Given the description of an element on the screen output the (x, y) to click on. 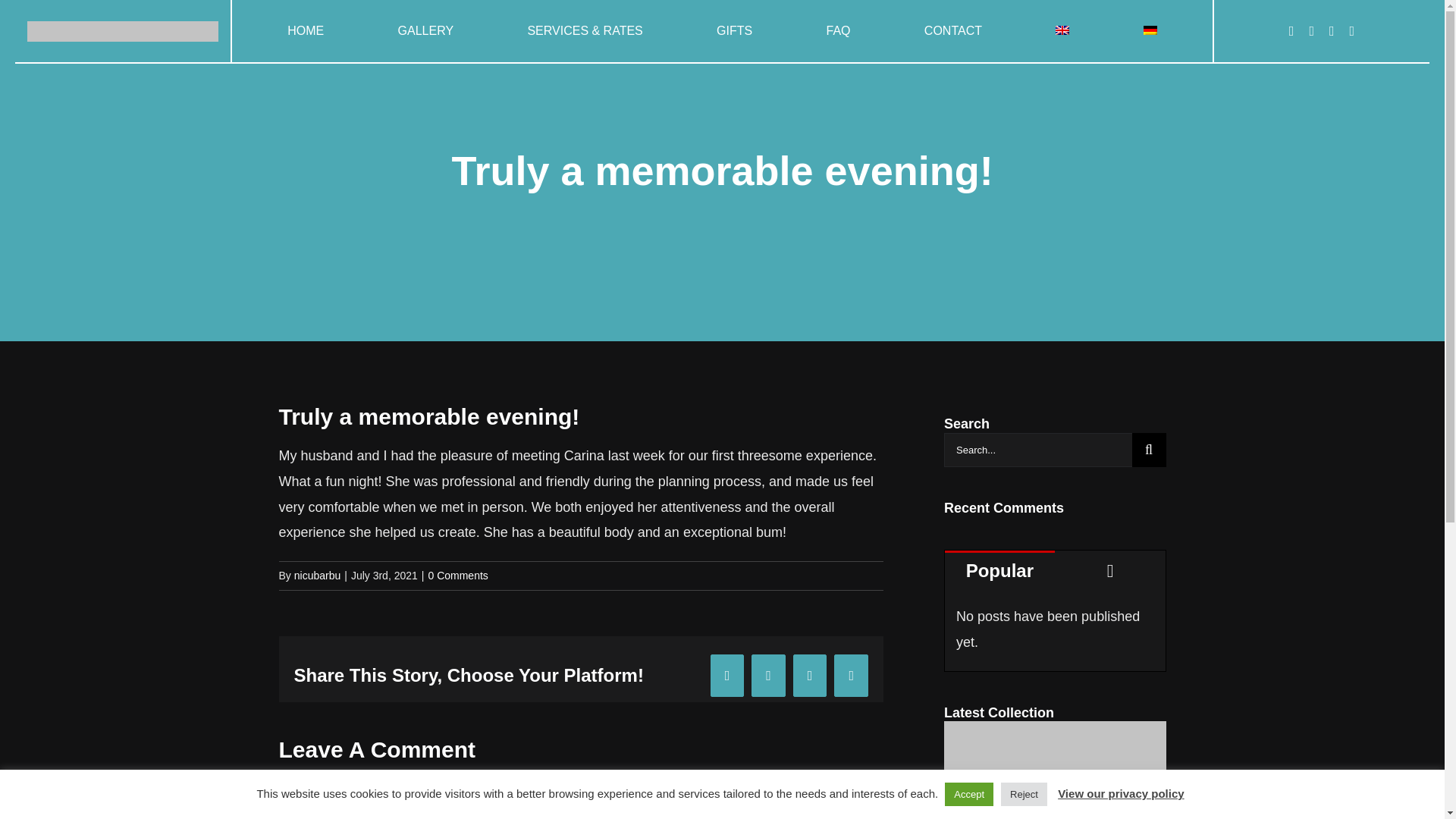
Comments (1110, 569)
nicubarbu (317, 575)
GALLERY (425, 31)
Reject (1023, 793)
Accept (968, 793)
Popular (999, 569)
HOME (305, 31)
Posts by nicubarbu (317, 575)
FAQ (838, 31)
View our privacy policy (1120, 793)
CONTACT (952, 31)
0 Comments (457, 575)
GIFTS (734, 31)
